Given the description of an element on the screen output the (x, y) to click on. 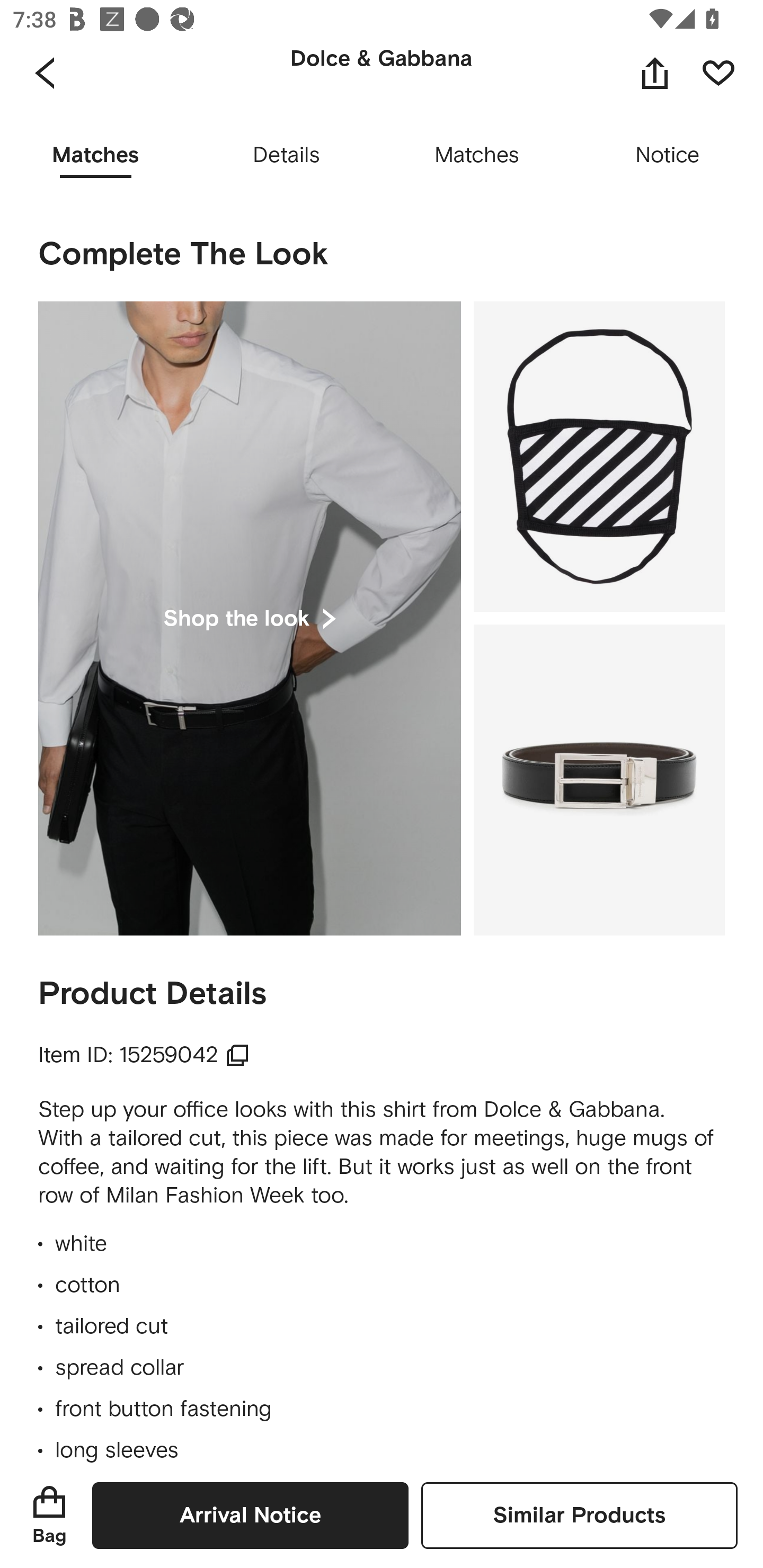
Details (285, 155)
Matches (476, 155)
Notice (667, 155)
Item ID: 15259042 (144, 1055)
Bag (49, 1515)
Arrival Notice (250, 1515)
Similar Products (579, 1515)
